Given the description of an element on the screen output the (x, y) to click on. 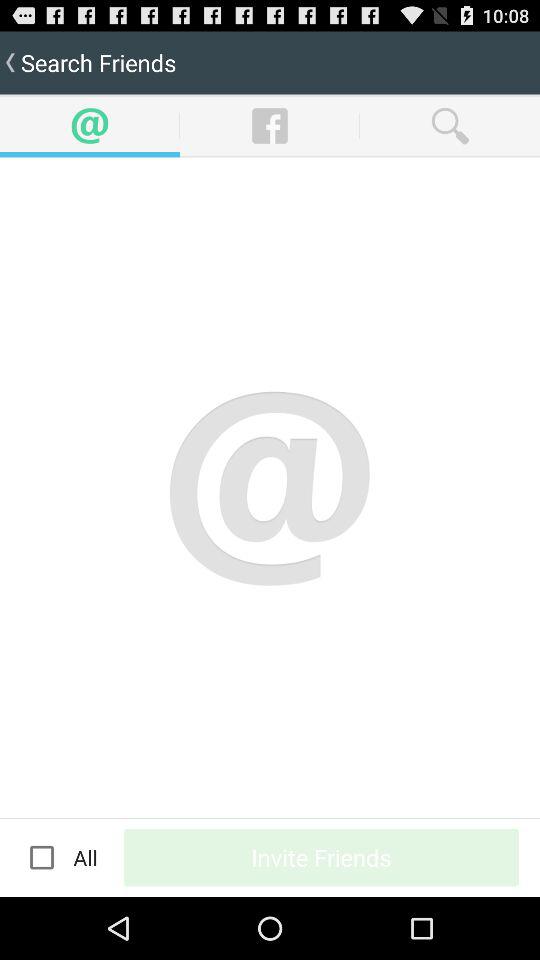
press the icon next to all (42, 857)
